Given the description of an element on the screen output the (x, y) to click on. 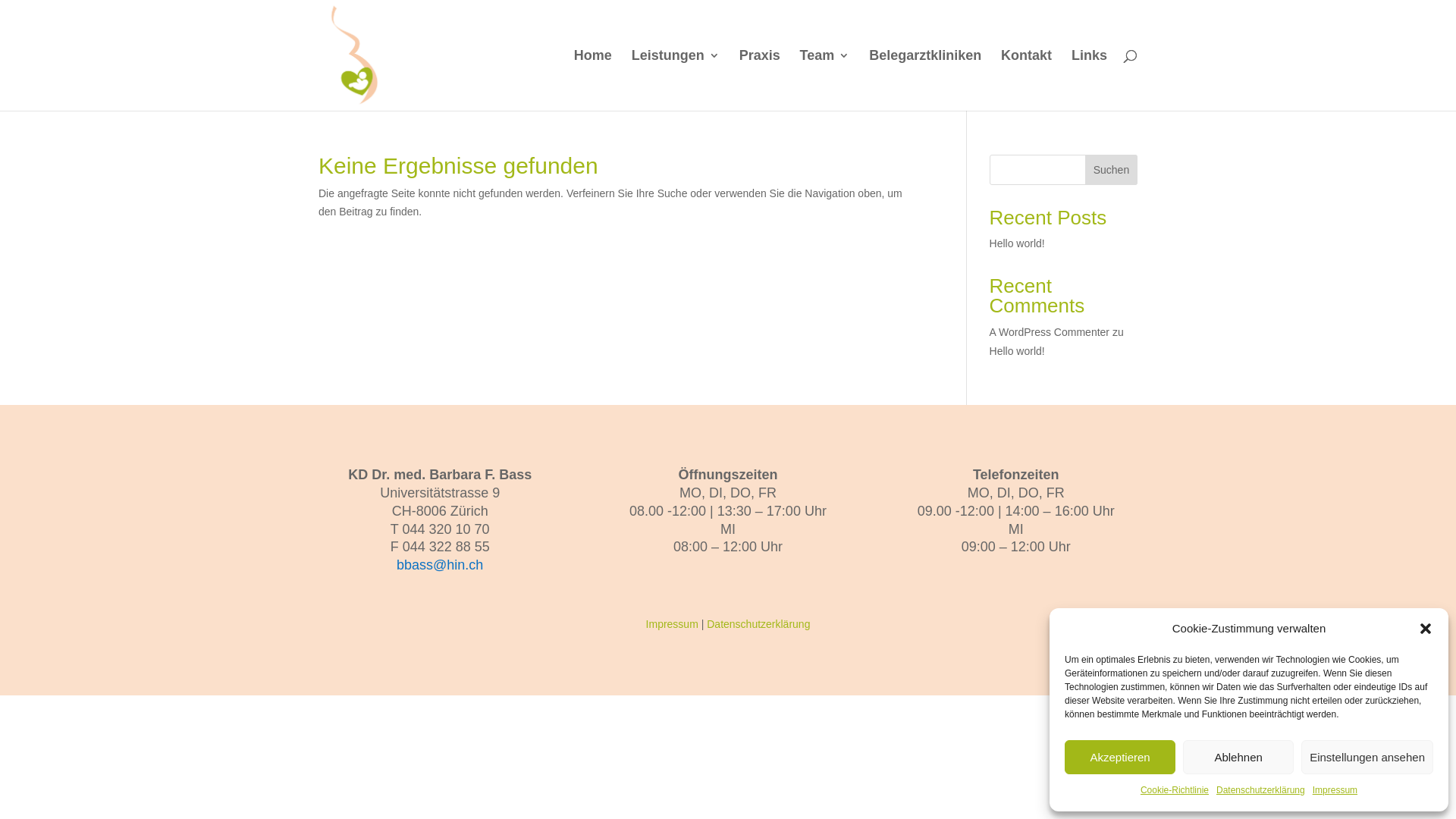
Impressum Element type: text (1334, 790)
A WordPress Commenter Element type: text (1049, 332)
Praxis Element type: text (759, 80)
Kontakt Element type: text (1026, 80)
Links Element type: text (1089, 80)
Ablehnen Element type: text (1238, 757)
bbass@hin.ch Element type: text (439, 564)
Home Element type: text (592, 80)
Cookie-Richtlinie Element type: text (1174, 790)
Akzeptieren Element type: text (1119, 757)
Leistungen Element type: text (675, 80)
Suchen Element type: text (1111, 169)
Hello world! Element type: text (1016, 351)
Belegarztkliniken Element type: text (925, 80)
Einstellungen ansehen Element type: text (1367, 757)
Team Element type: text (825, 80)
Impressum Element type: text (672, 624)
Hello world! Element type: text (1016, 243)
